Given the description of an element on the screen output the (x, y) to click on. 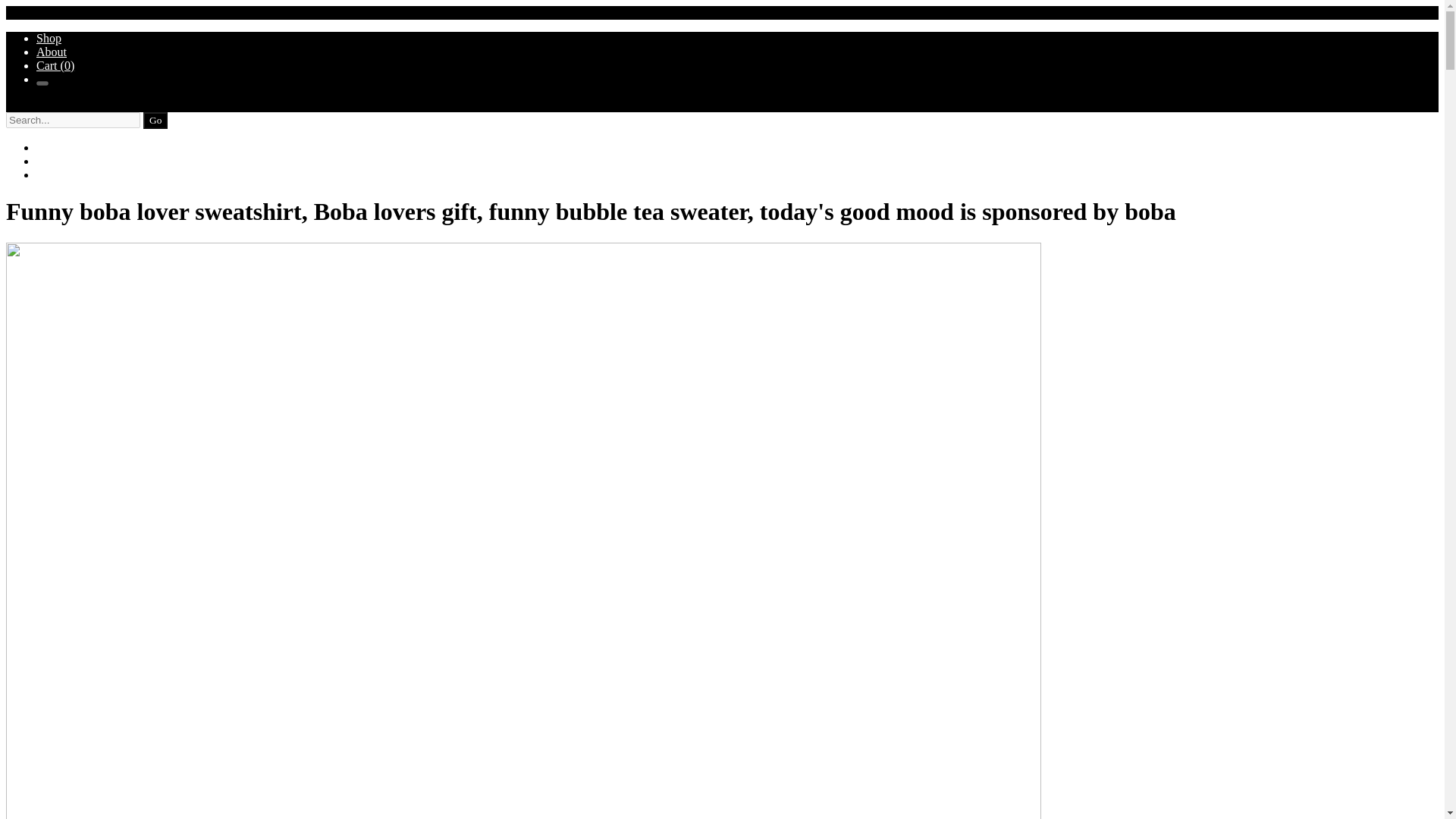
About (51, 51)
Go (154, 120)
Go (154, 120)
Shop (48, 38)
